Given the description of an element on the screen output the (x, y) to click on. 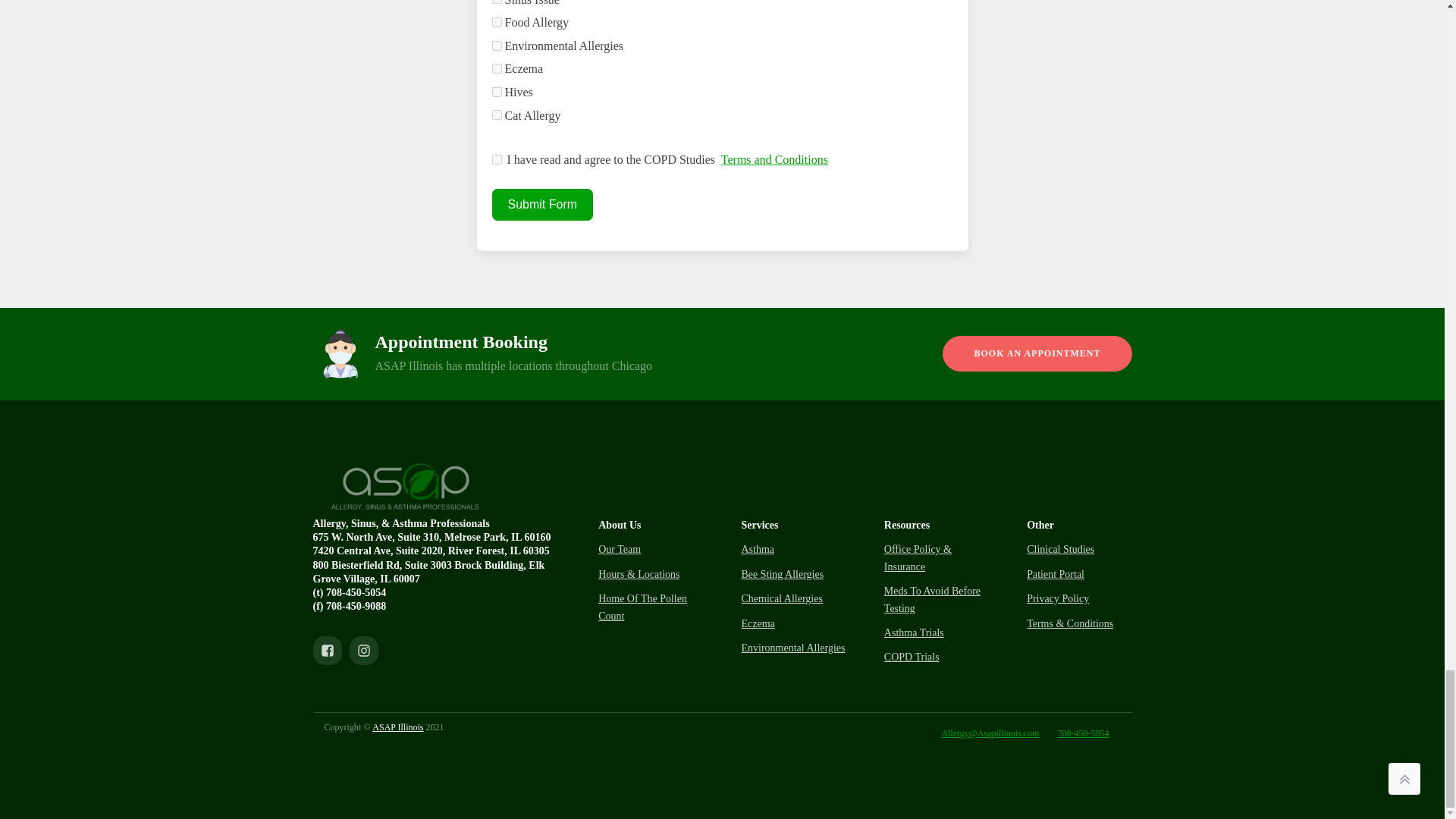
Eczema (757, 623)
Submit Form (542, 204)
Asthma (757, 549)
BOOK AN APPOINTMENT (1036, 353)
Our Team (619, 549)
Hives (496, 91)
Food Allergy (496, 22)
on (496, 159)
Environmental Allergies (792, 647)
Terms and Conditions (774, 159)
Sinus Issue (496, 2)
Eczema (496, 68)
Chemical Allergies (781, 598)
Home Of The Pollen Count (650, 607)
Bee Sting Allergies (782, 574)
